Given the description of an element on the screen output the (x, y) to click on. 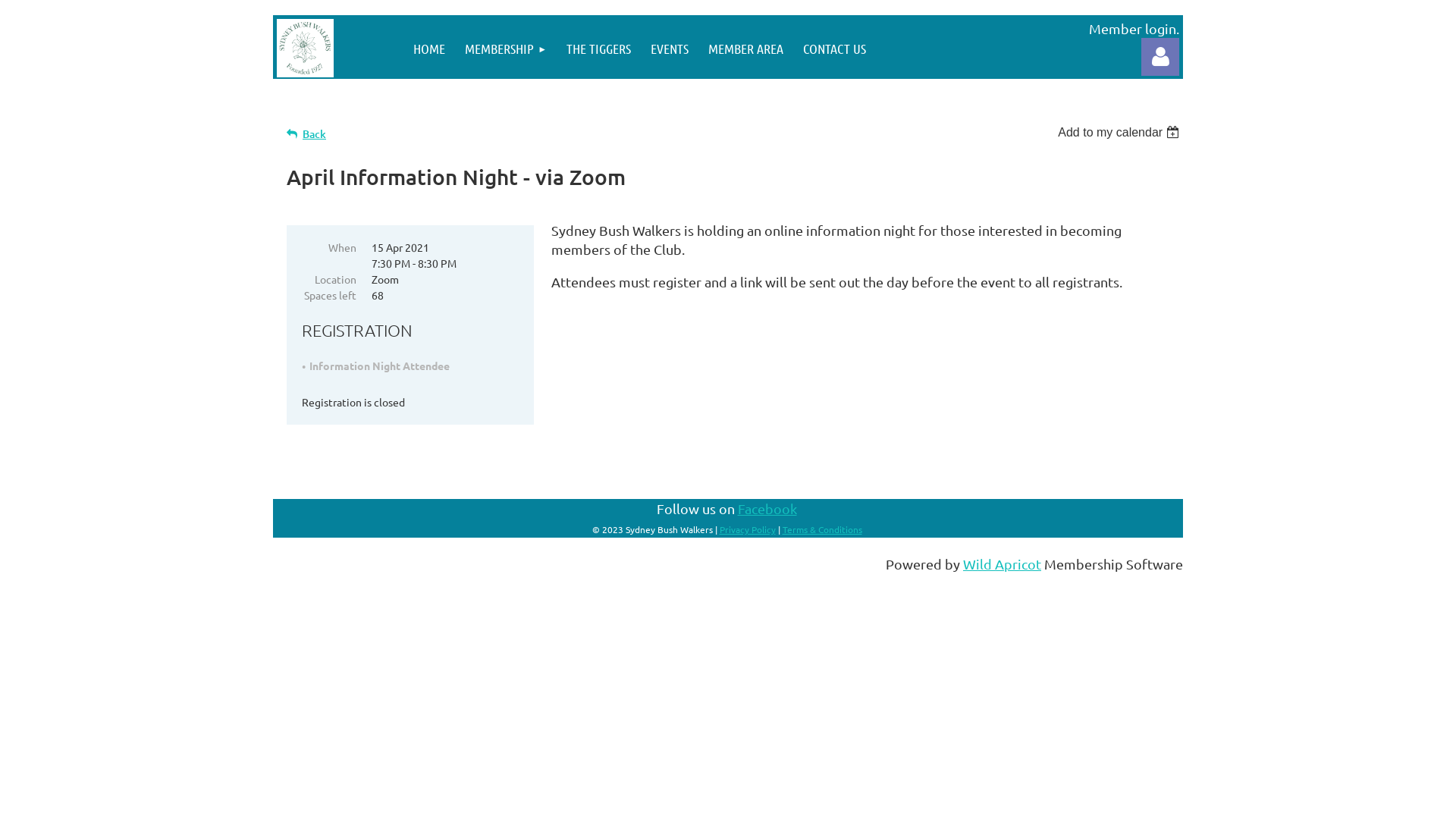
Log in Element type: text (1160, 56)
Wild Apricot Element type: text (1002, 563)
Back Element type: text (306, 133)
Terms & Conditions Element type: text (822, 527)
Privacy Policy Element type: text (746, 527)
Facebook Element type: text (766, 508)
CONTACT US Element type: text (834, 48)
EVENTS Element type: text (669, 48)
THE TIGGERS Element type: text (598, 48)
MEMBERSHIP Element type: text (505, 48)
MEMBER AREA Element type: text (745, 48)
HOME Element type: text (429, 48)
